Given the description of an element on the screen output the (x, y) to click on. 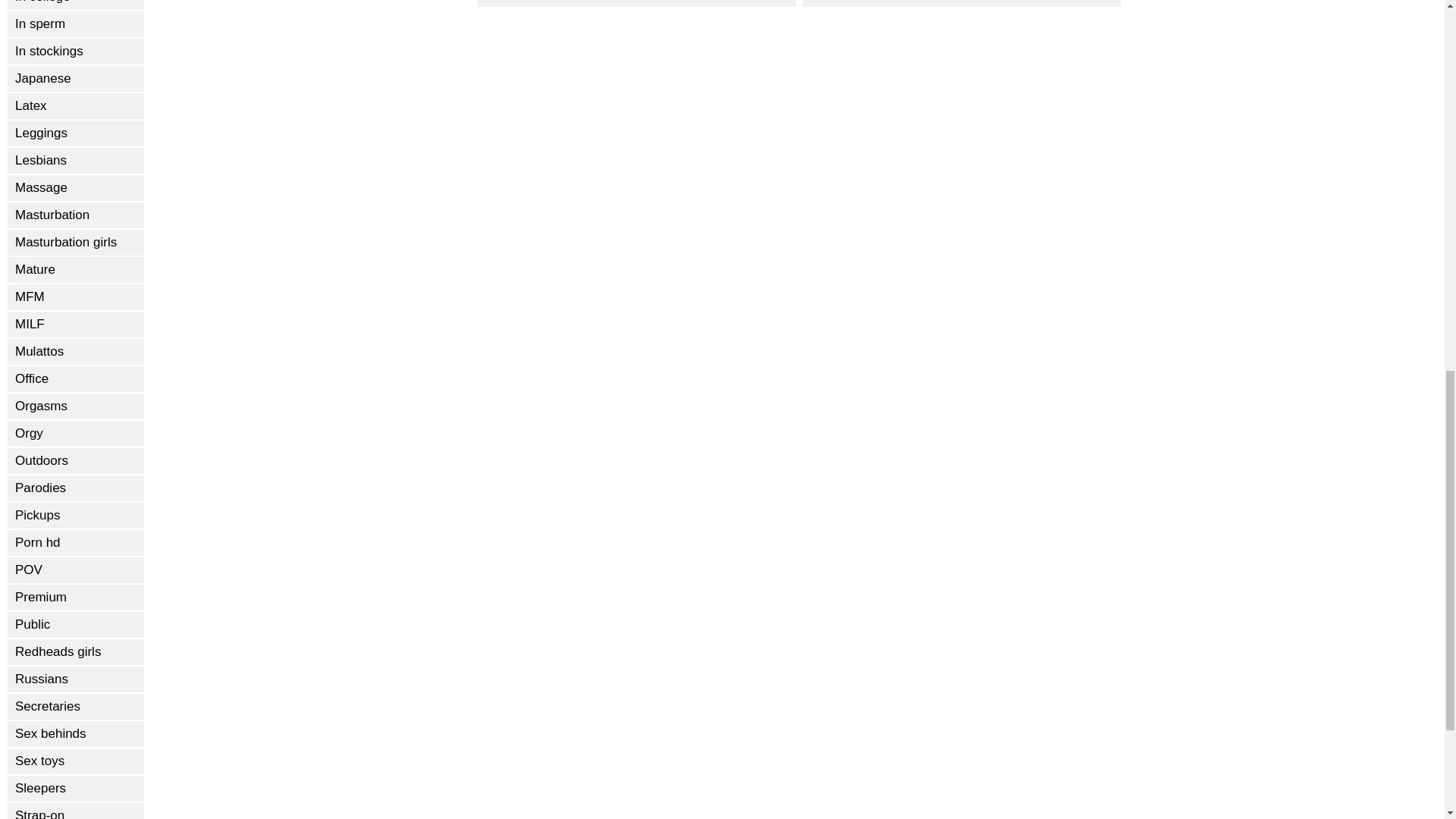
In college (75, 4)
Japanese (75, 78)
In stockings (75, 51)
In sperm (75, 23)
